Given the description of an element on the screen output the (x, y) to click on. 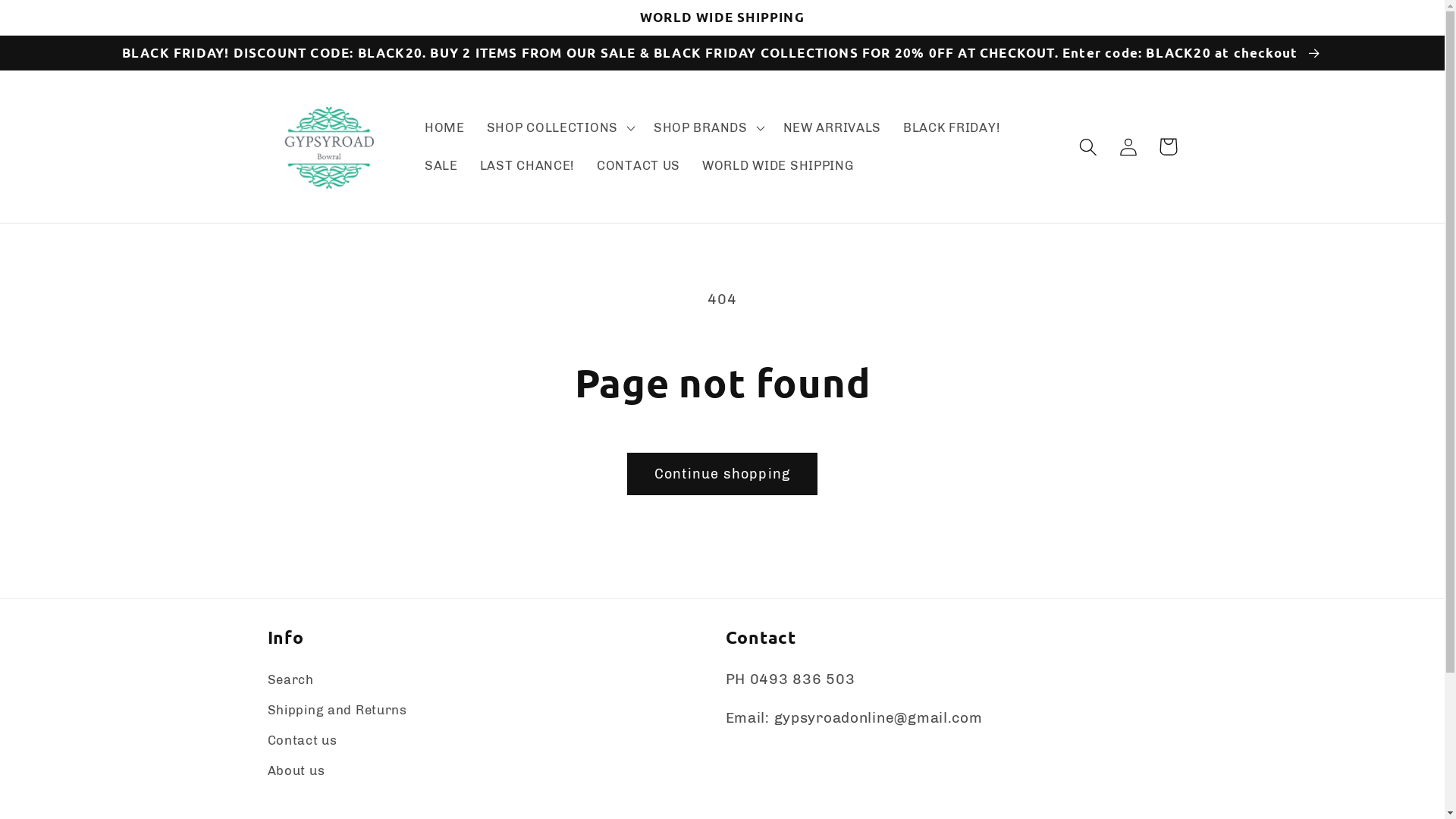
Contact us Element type: text (301, 740)
Continue shopping Element type: text (722, 473)
About us Element type: text (295, 771)
Search Element type: text (289, 682)
Cart Element type: text (1168, 146)
Shipping and Returns Element type: text (336, 710)
NEW ARRIVALS Element type: text (831, 128)
BLACK FRIDAY! Element type: text (951, 128)
Log in Element type: text (1127, 146)
CONTACT US Element type: text (638, 166)
HOME Element type: text (445, 128)
LAST CHANCE! Element type: text (526, 166)
SALE Element type: text (441, 166)
WORLD WIDE SHIPPING Element type: text (777, 166)
